Given the description of an element on the screen output the (x, y) to click on. 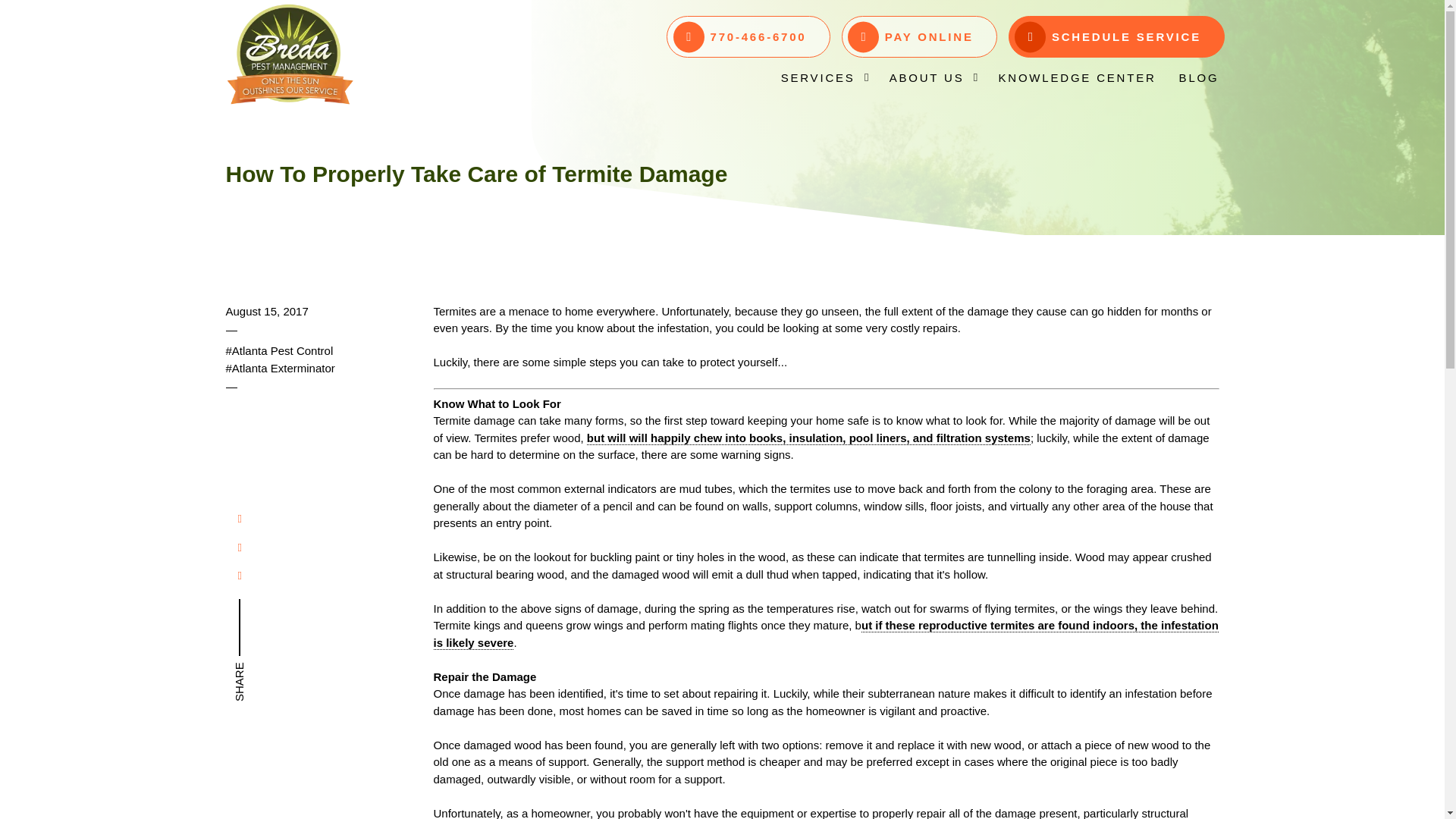
770-466-6700 (747, 36)
SERVICES (823, 77)
KNOWLEDGE CENTER (1077, 77)
ABOUT US (932, 77)
PAY ONLINE (919, 36)
SCHEDULE SERVICE (1116, 36)
BLOG (1198, 77)
